Given the description of an element on the screen output the (x, y) to click on. 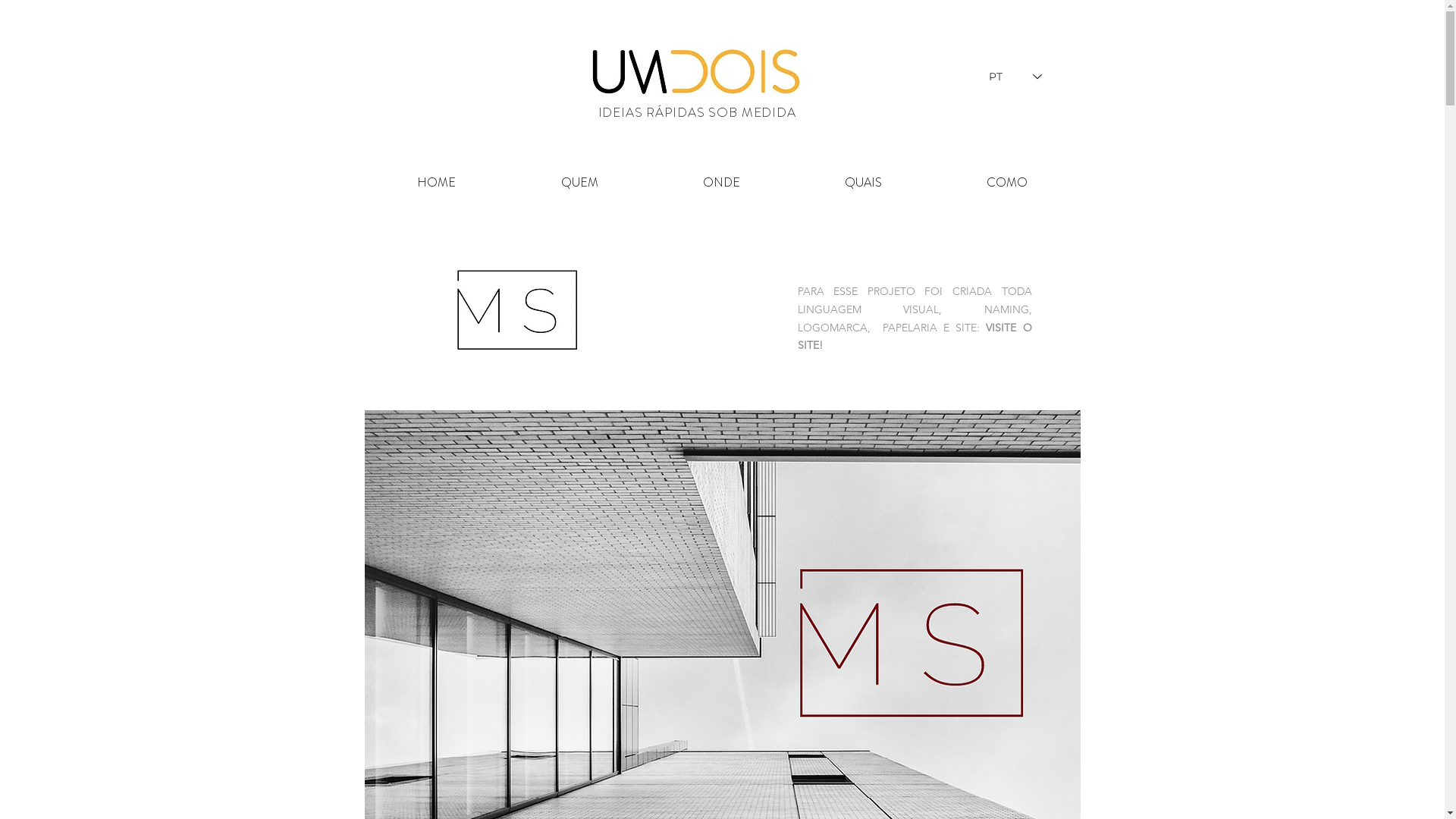
QUEM Element type: text (578, 182)
HOME Element type: text (436, 182)
ONDE Element type: text (721, 182)
VISITE O SITE! Element type: text (914, 336)
naoalogo.png Element type: hover (514, 310)
COMO Element type: text (1006, 182)
